Given the description of an element on the screen output the (x, y) to click on. 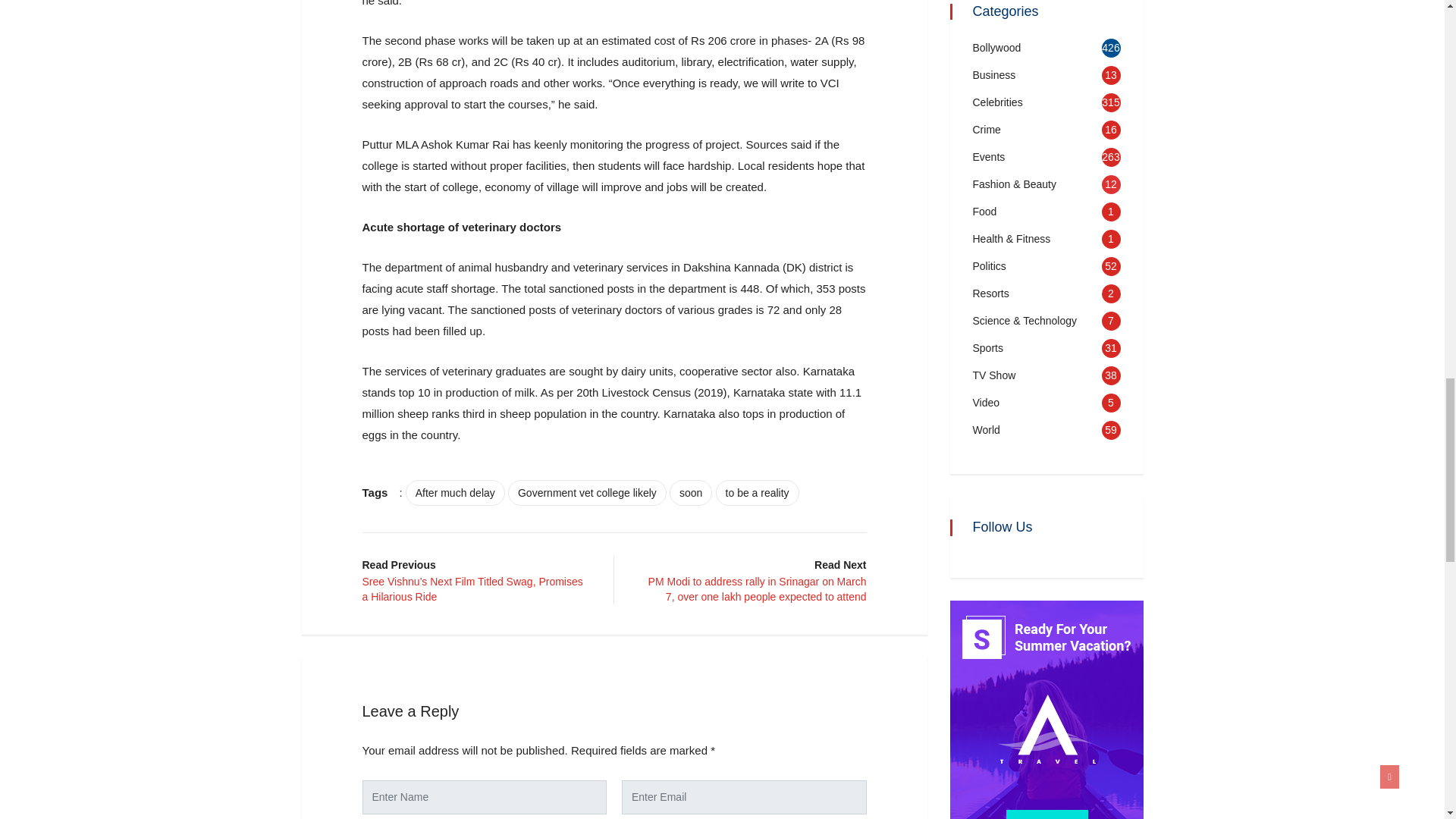
to be a reality (757, 492)
soon (690, 492)
Government vet college likely (587, 492)
After much delay (455, 492)
